Given the description of an element on the screen output the (x, y) to click on. 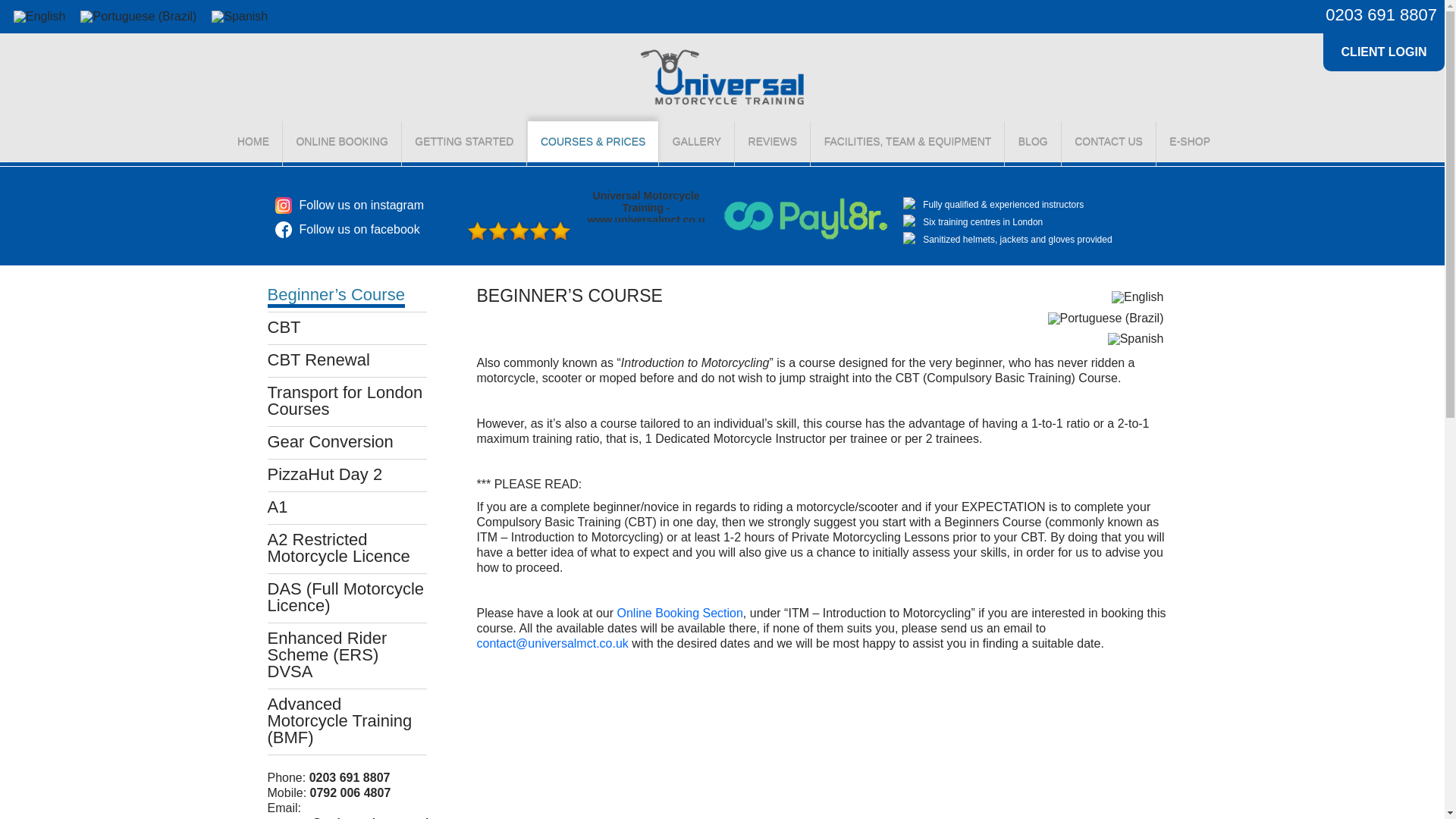
REVIEWS (772, 143)
E-SHOP (1189, 143)
GALLERY (696, 143)
CONTACT US (1108, 143)
BLOG (1033, 143)
CLIENT LOGIN (1383, 51)
A2 Restricted Motorcycle Licence (337, 547)
GETTING STARTED (463, 143)
Universal Motorcycle Training - www.universalmct.co.uk (645, 205)
Transport for London Courses (344, 400)
